Given the description of an element on the screen output the (x, y) to click on. 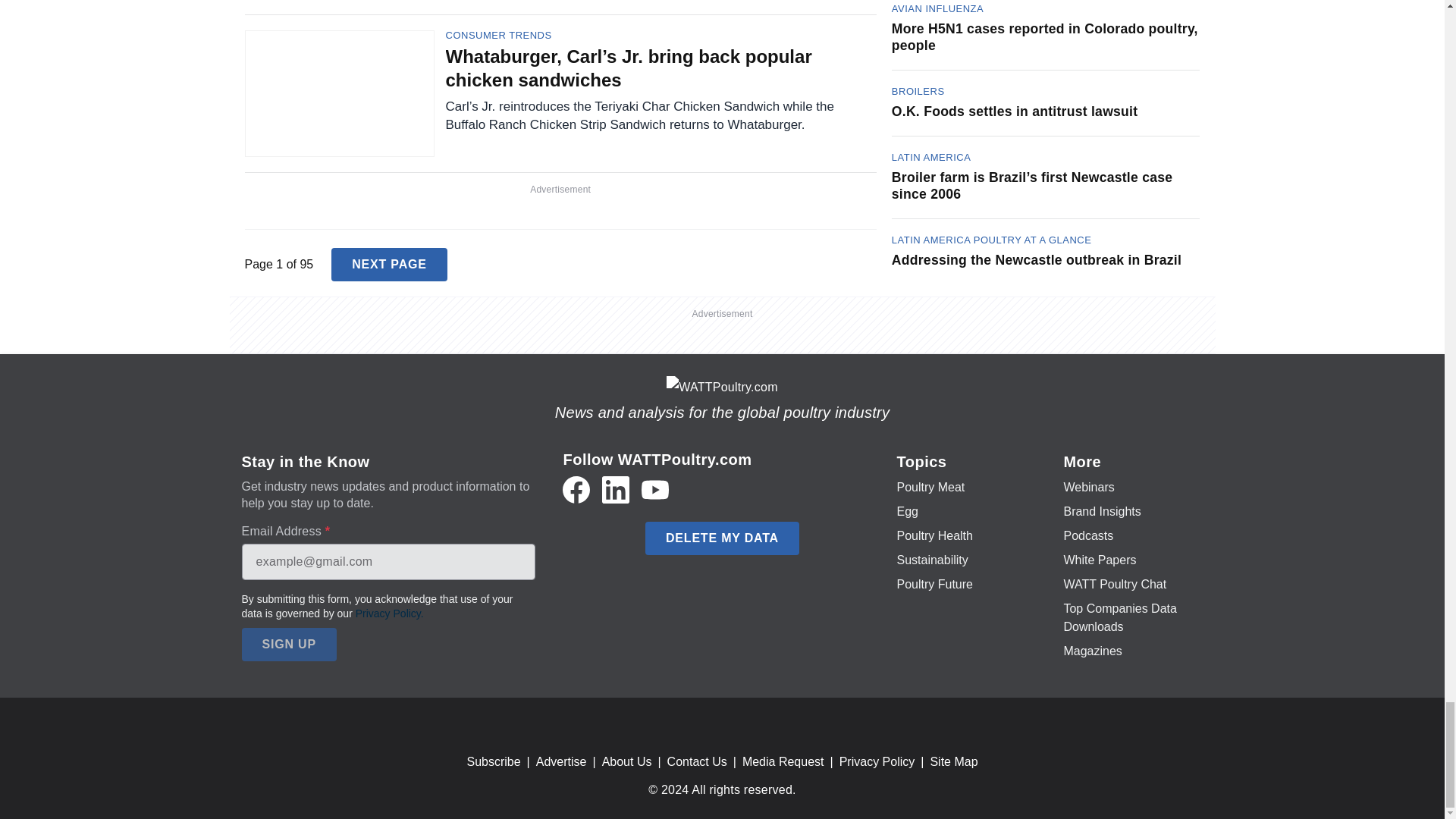
LinkedIn icon (615, 489)
Facebook icon (575, 489)
YouTube icon (655, 489)
